Given the description of an element on the screen output the (x, y) to click on. 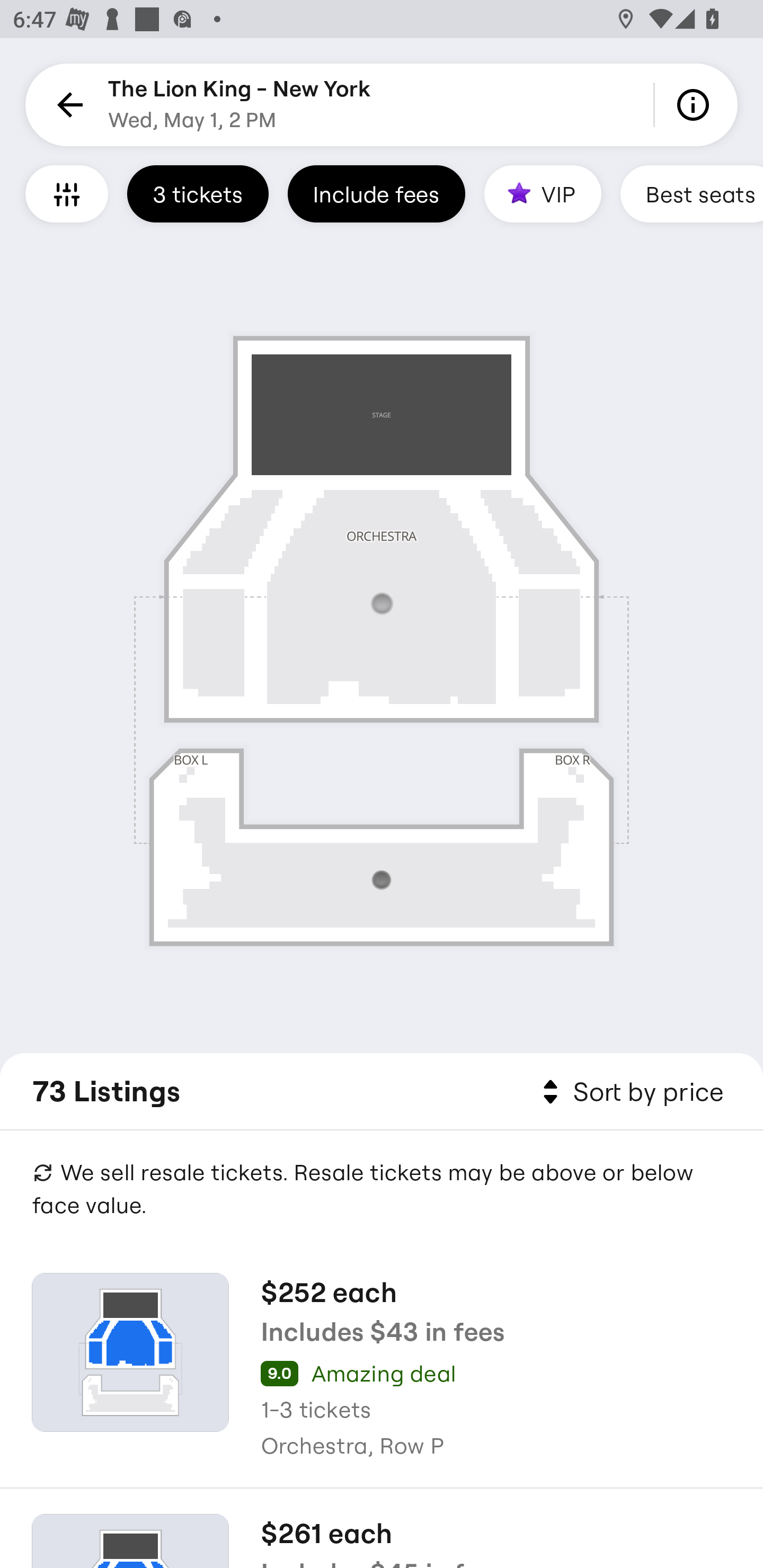
Back (66, 104)
The Lion King - New York Wed, May 1, 2 PM (239, 104)
Info (695, 104)
Filters and Accessible Seating (66, 193)
3 tickets (197, 193)
Include fees (376, 193)
VIP (542, 193)
Best seats (691, 193)
Sort by price (629, 1091)
